Given the description of an element on the screen output the (x, y) to click on. 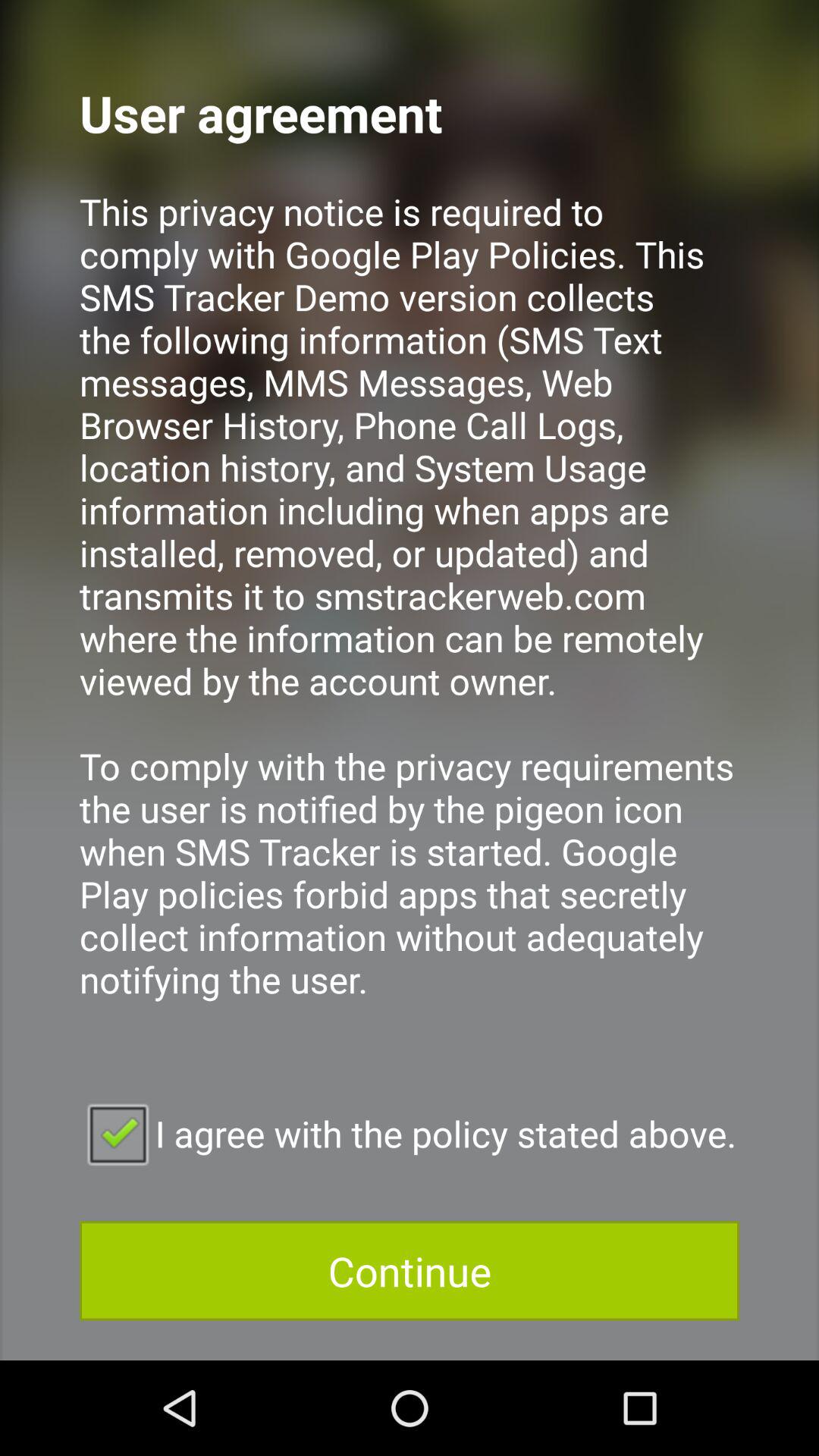
launch the i agree with (409, 1133)
